Given the description of an element on the screen output the (x, y) to click on. 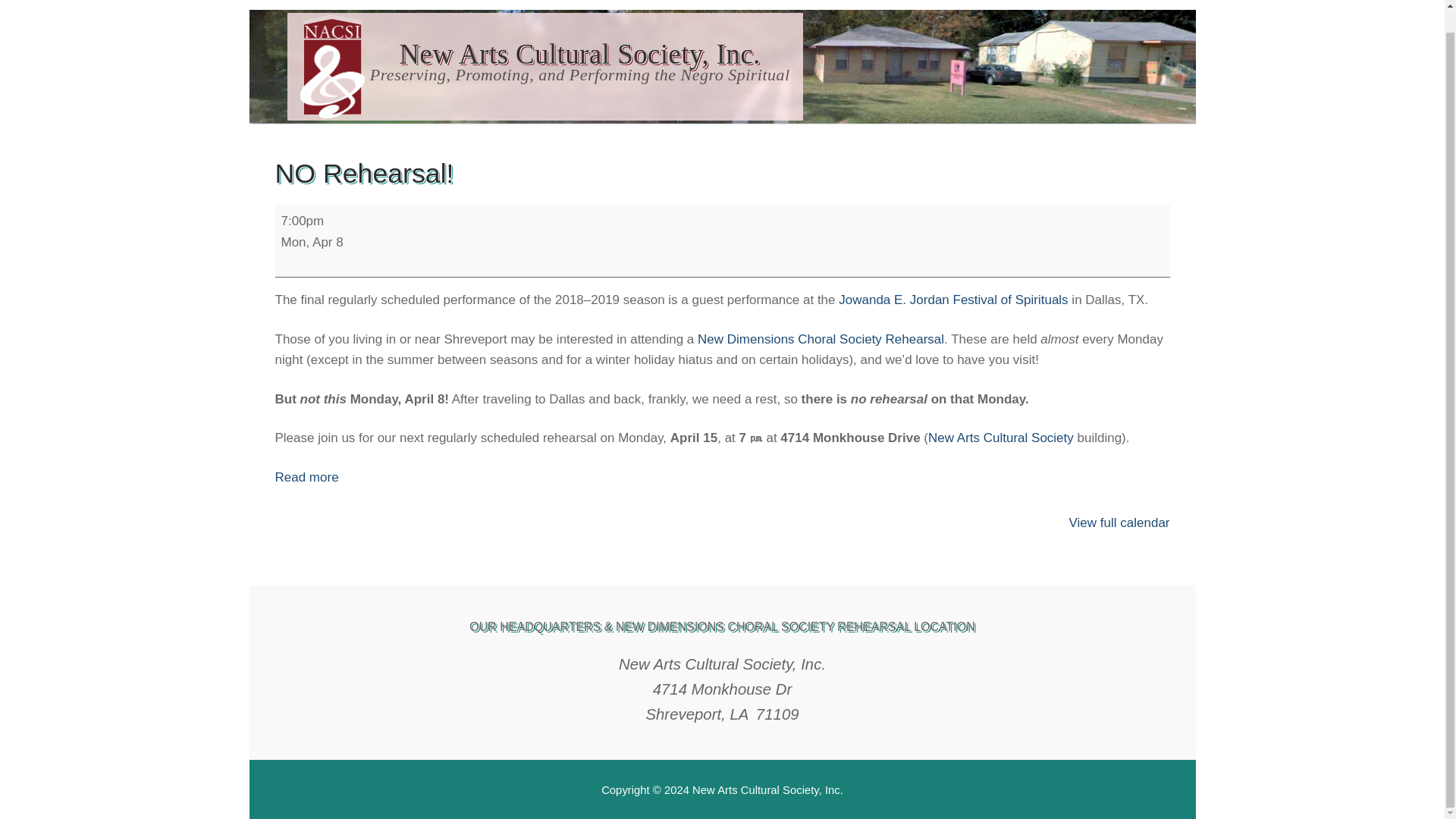
2019-04-08T19:00:00-05:00 (302, 220)
Jowanda E. Jordan Festival of Spirituals (952, 299)
Contact (604, 4)
New Arts Cultural Society (1001, 437)
New Arts Cultural Society, Inc. (579, 54)
New Dimensions Choral Society Rehearsal (820, 339)
NACSI Calendar (508, 4)
2019-04-08T19:00:00-05:00 (311, 242)
Facebook (1115, 1)
View full calendar (1119, 522)
Read more (306, 477)
About the New Arts Cultural Society and its choirs. (388, 4)
Youtube (388, 4)
Home (1152, 1)
